Given the description of an element on the screen output the (x, y) to click on. 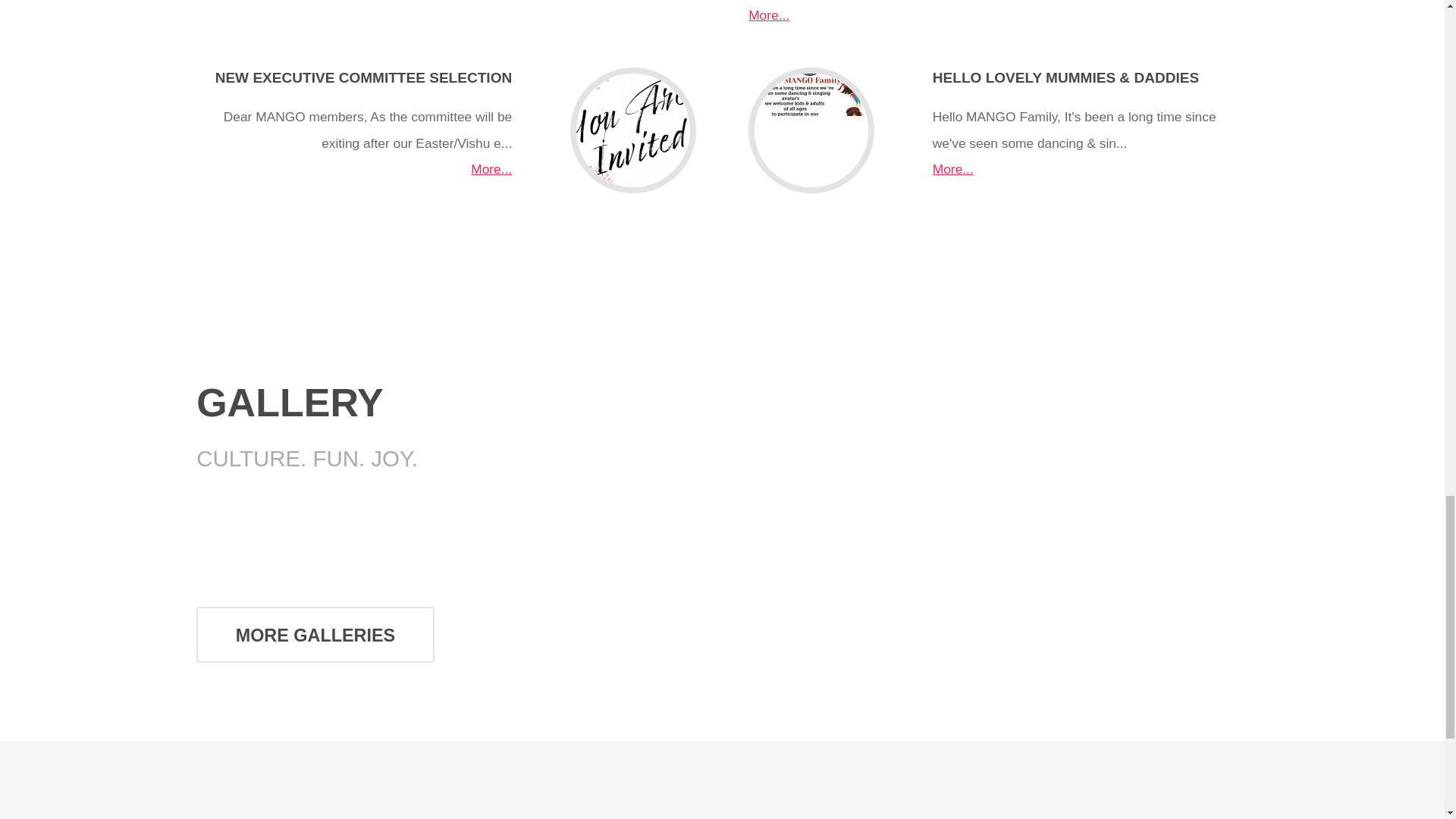
More... (491, 168)
More... (491, 0)
Read more on MANGO is Celebrating Easter-Vishu 2023 (768, 14)
New Executive Committee Selection (632, 130)
More... (953, 168)
Read more on New Executive Committee Selection (491, 168)
NEW EXECUTIVE COMMITTEE SELECTION (363, 77)
More... (768, 14)
Read more on Australian Red Cross Partnership (491, 0)
MORE GALLERIES (314, 634)
Read more on New Executive Committee Selection (363, 77)
